Given the description of an element on the screen output the (x, y) to click on. 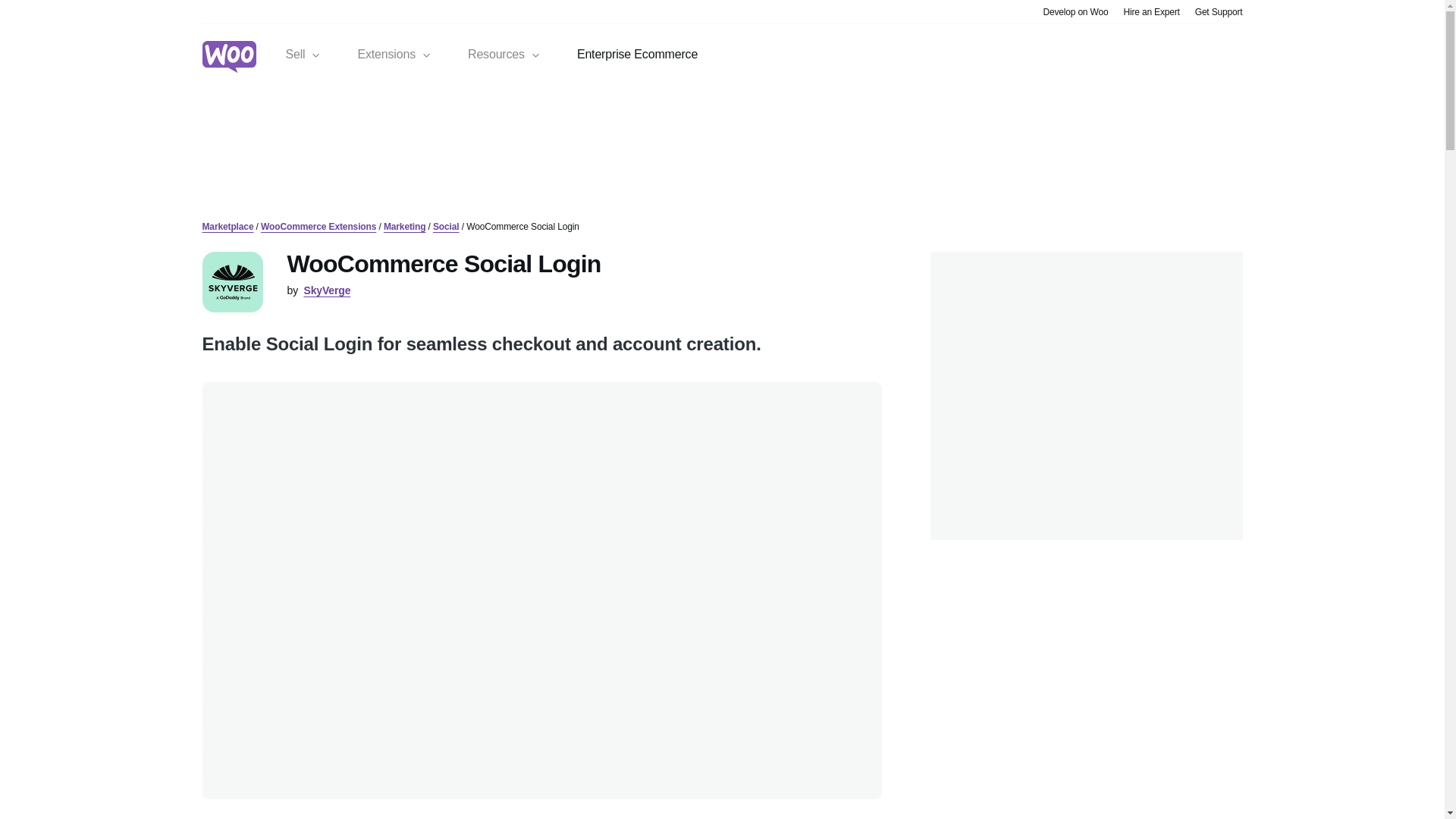
Enterprise Ecommerce (637, 54)
WooCommerce Extensions (317, 226)
Extensions (394, 54)
Develop on Woo (1075, 11)
Social (446, 226)
Hire an Expert (1150, 11)
Sell (302, 54)
Get Support (1219, 11)
Resources (504, 54)
Marketplace (227, 226)
